Given the description of an element on the screen output the (x, y) to click on. 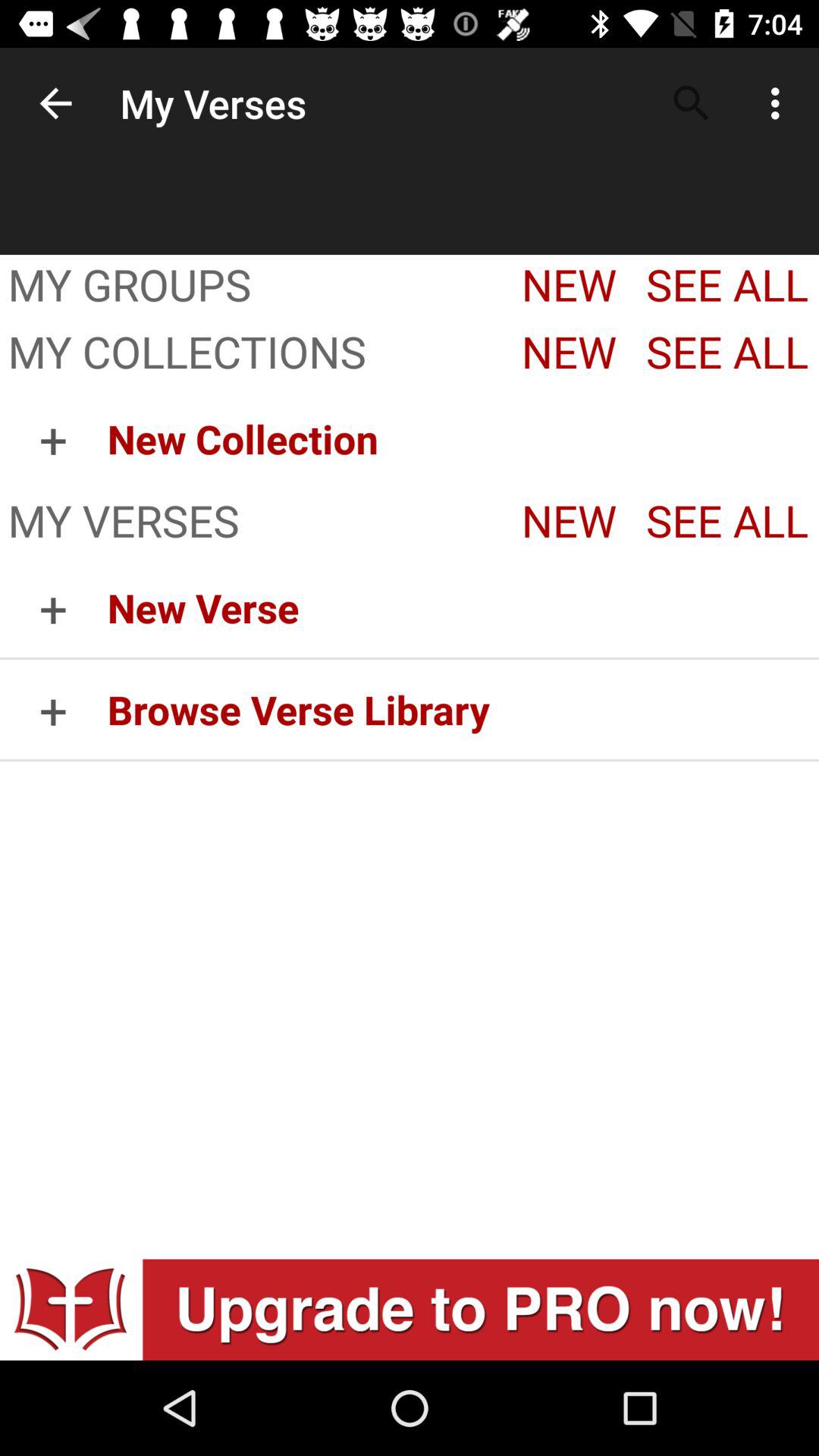
scroll to the + (53, 709)
